Given the description of an element on the screen output the (x, y) to click on. 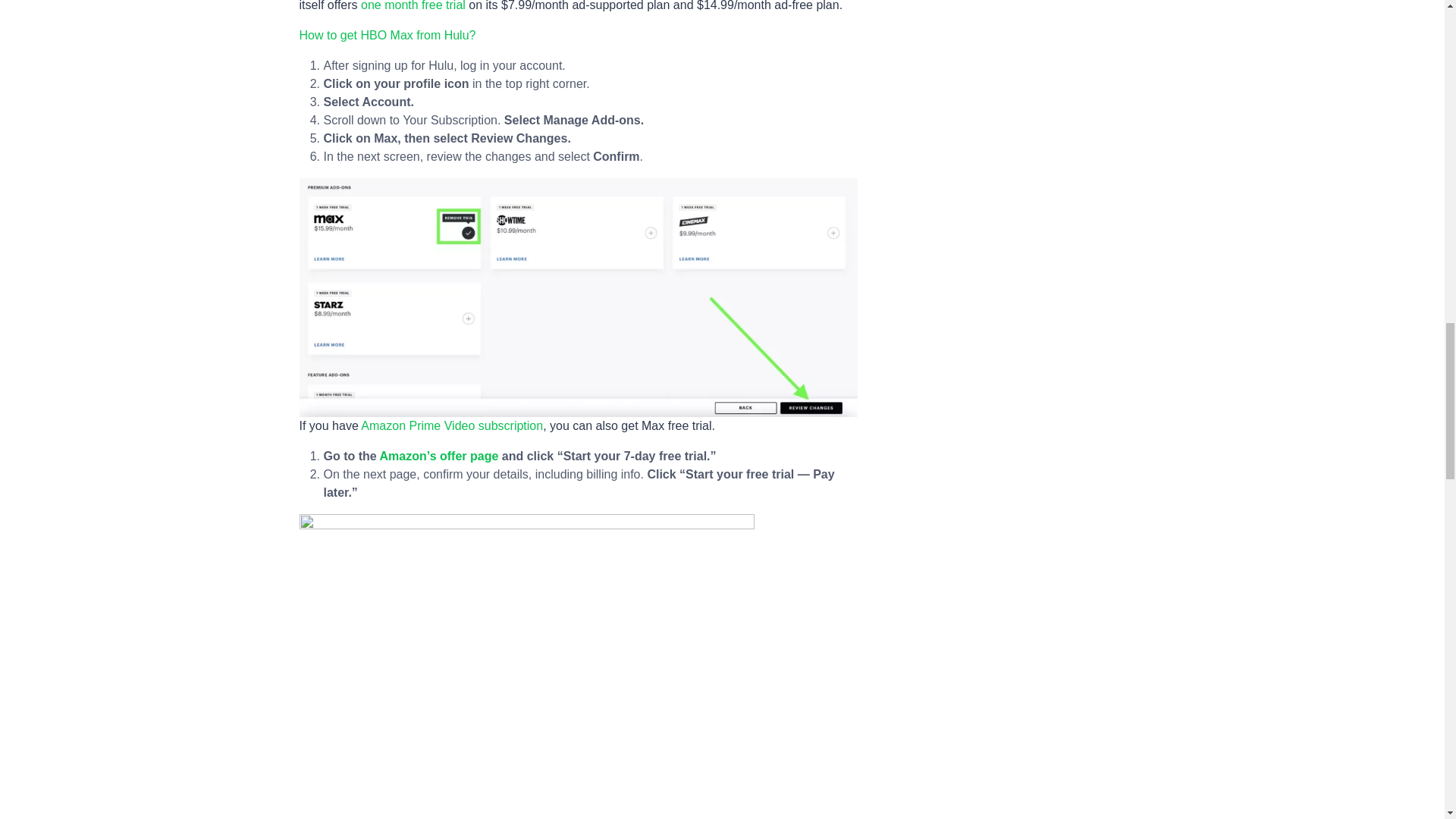
How to get HBO Max from Hulu? (387, 34)
Amazon Prime Video subscription (452, 425)
one month free trial (413, 5)
